Given the description of an element on the screen output the (x, y) to click on. 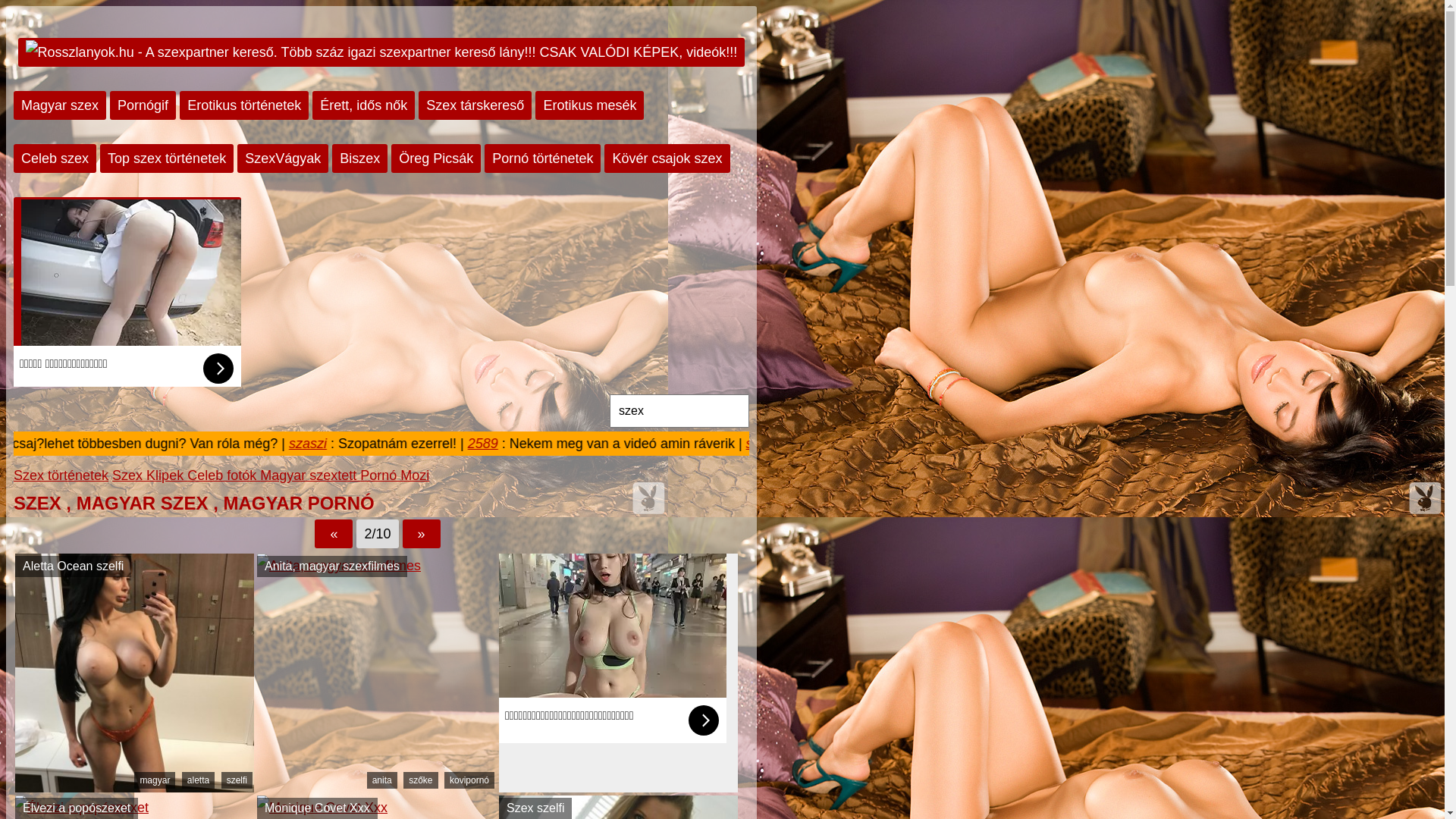
szerko Element type: text (964, 443)
Biszex Element type: text (359, 158)
Monique Covet Xxx Element type: hover (322, 807)
szaszi Element type: text (509, 443)
Magyar szex Element type: text (59, 105)
anita Element type: text (382, 779)
Celeb szex Element type: text (54, 158)
2589 Element type: text (683, 443)
Magyar szextett Element type: text (310, 475)
Anita, magyar szexfilmes Element type: hover (338, 565)
magyar Element type: text (154, 779)
aletta Element type: text (198, 779)
szelfi Element type: text (236, 779)
mascara Element type: text (88, 443)
Szex Klipek Element type: text (149, 475)
Aletta Ocean szelfi Element type: hover (134, 787)
